Given the description of an element on the screen output the (x, y) to click on. 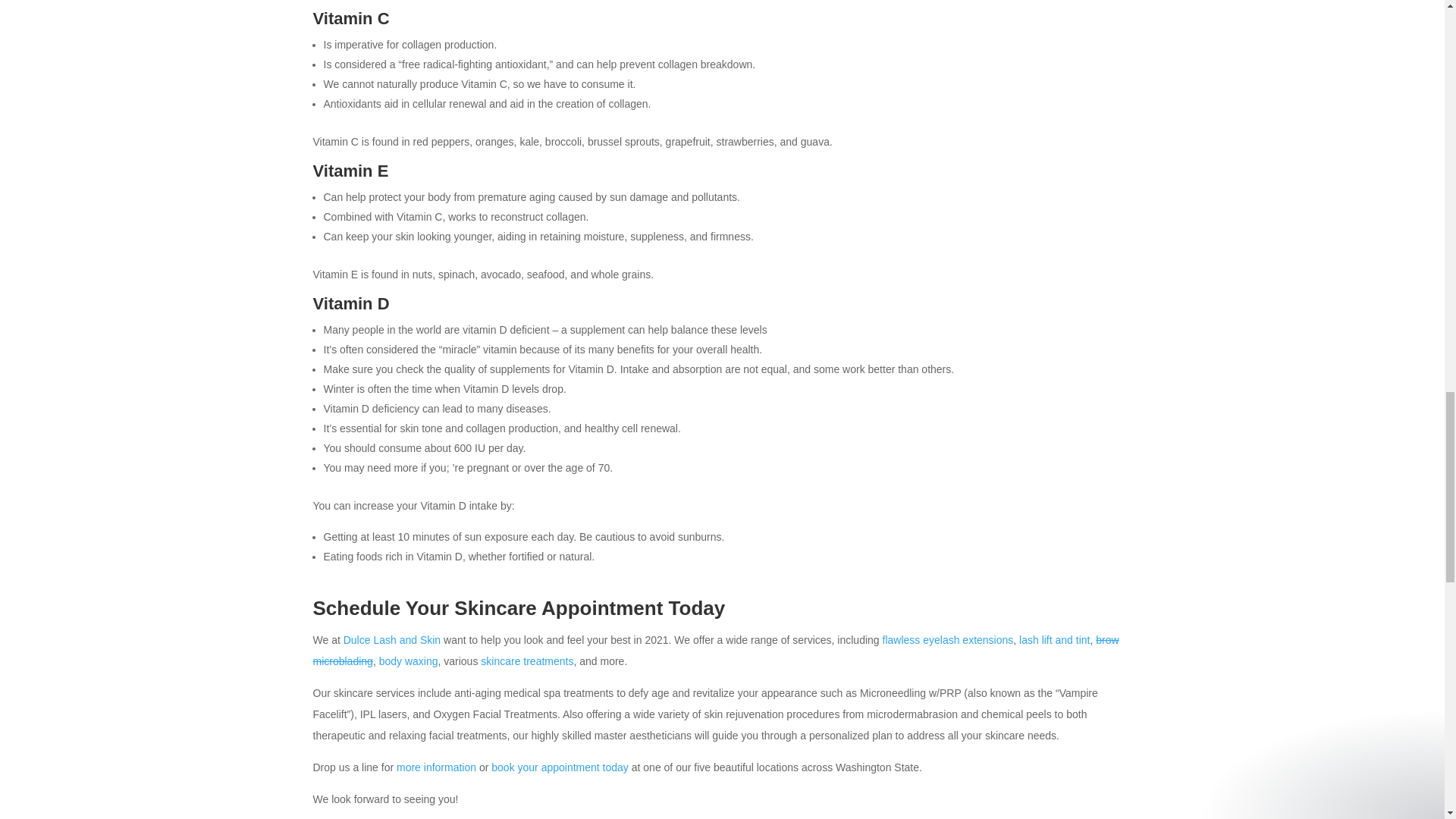
flawless eyelash extensions (947, 639)
Dulce Lash and Skin (392, 639)
brow microblading (715, 650)
lash lift and tint (1054, 639)
